Given the description of an element on the screen output the (x, y) to click on. 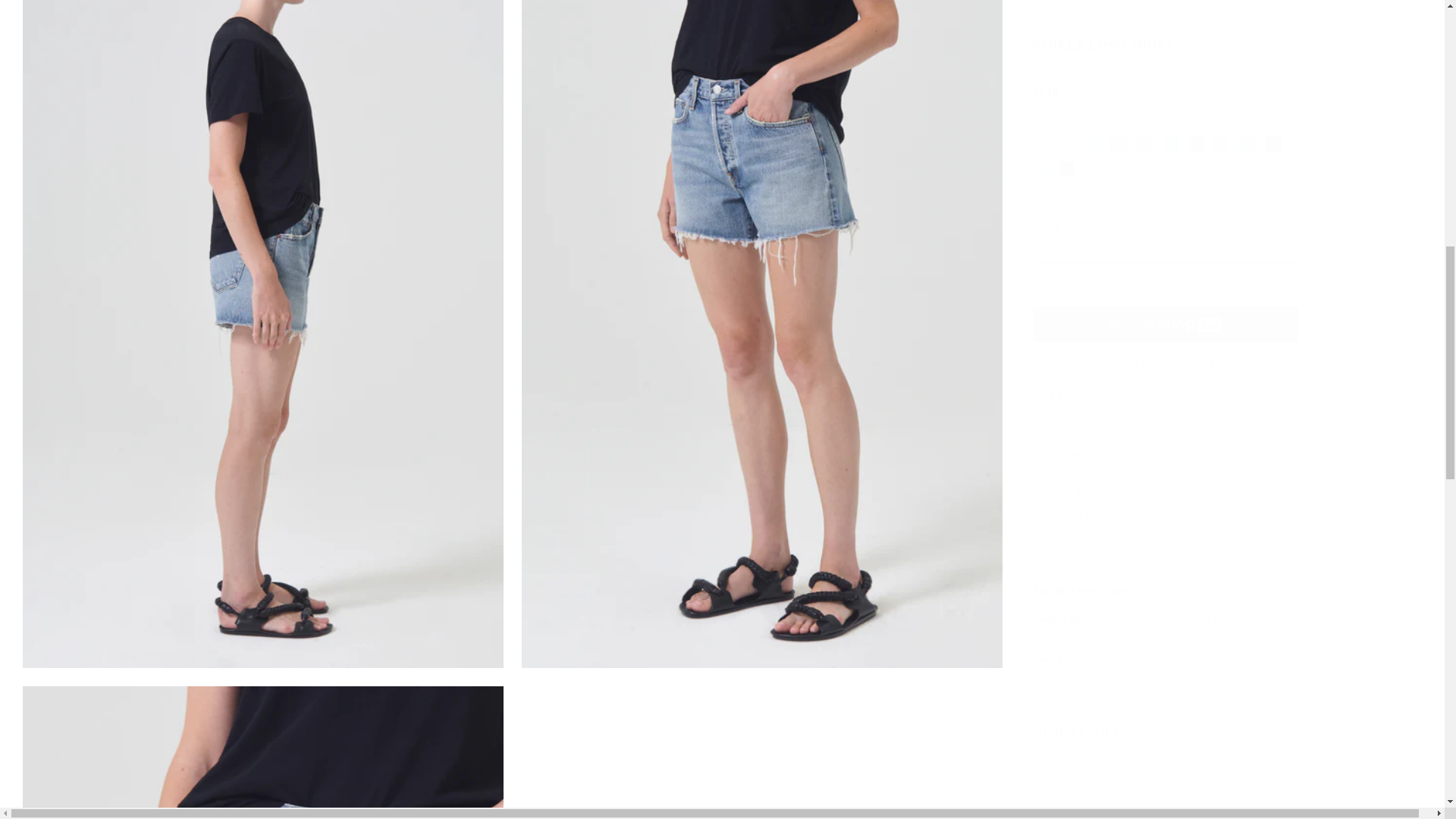
Open media 5 in modal (263, 744)
